Given the description of an element on the screen output the (x, y) to click on. 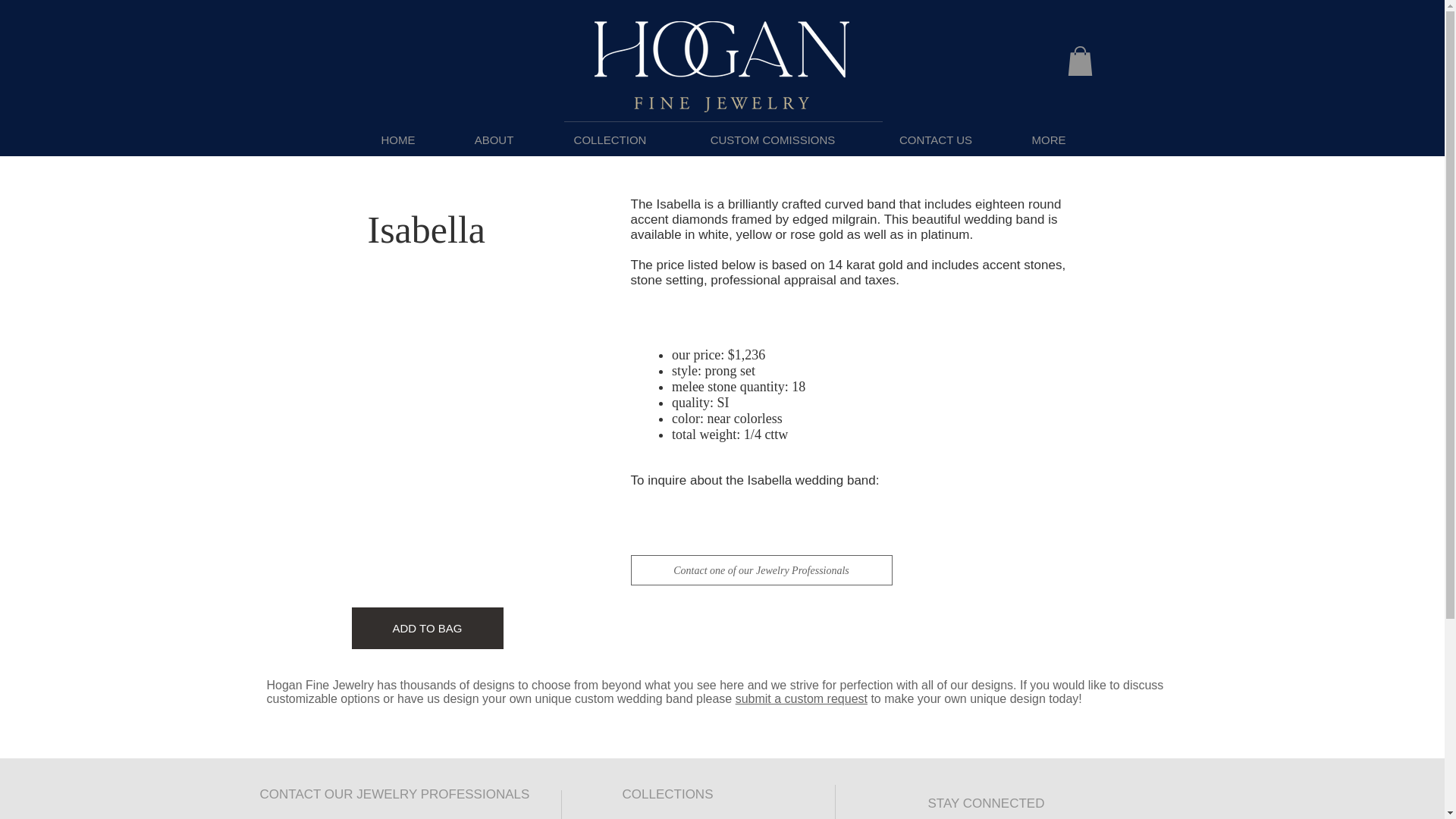
Contact one of our Jewelry Professionals (761, 570)
MORE (1048, 140)
submit a custom request (801, 698)
HOME (398, 140)
ADD TO BAG (427, 628)
CUSTOM COMISSIONS (772, 140)
CONTACT US (936, 140)
ABOUT (493, 140)
